Given the description of an element on the screen output the (x, y) to click on. 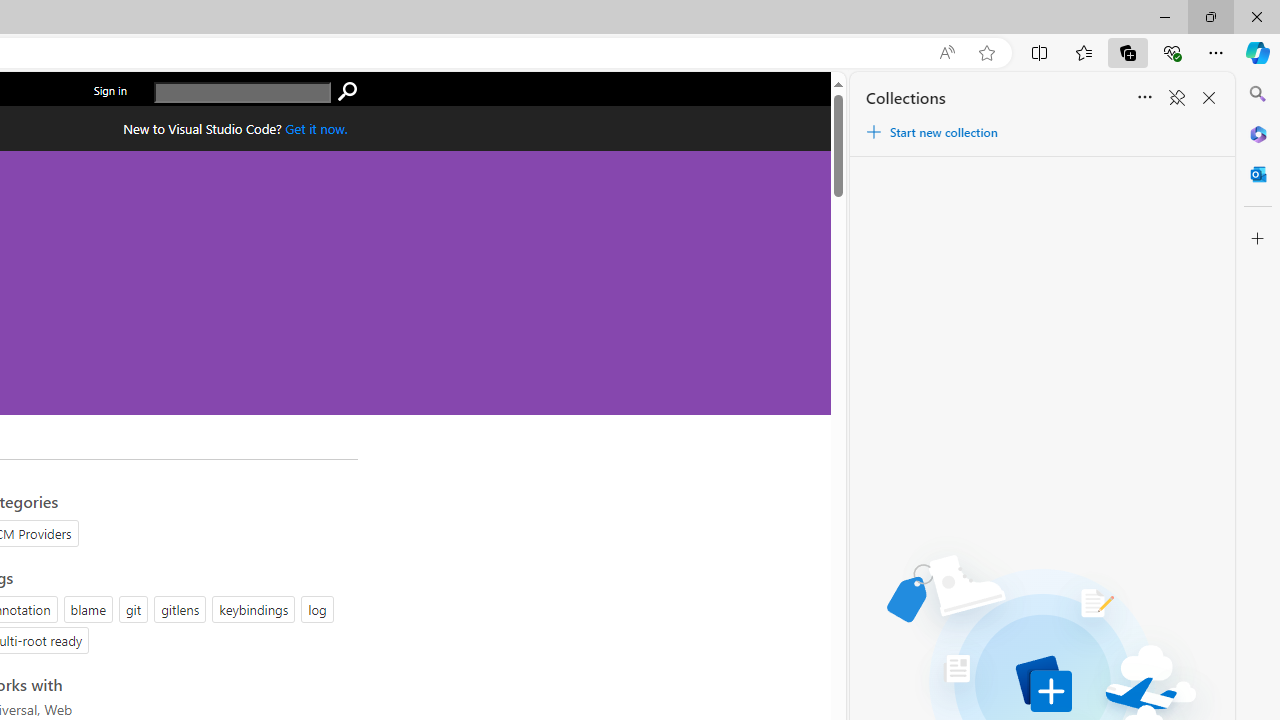
Sort (1144, 98)
Close Collections (1208, 98)
Get Visual Studio Code Now (316, 128)
Unpin Collections (1176, 98)
search (347, 92)
search (242, 92)
